Given the description of an element on the screen output the (x, y) to click on. 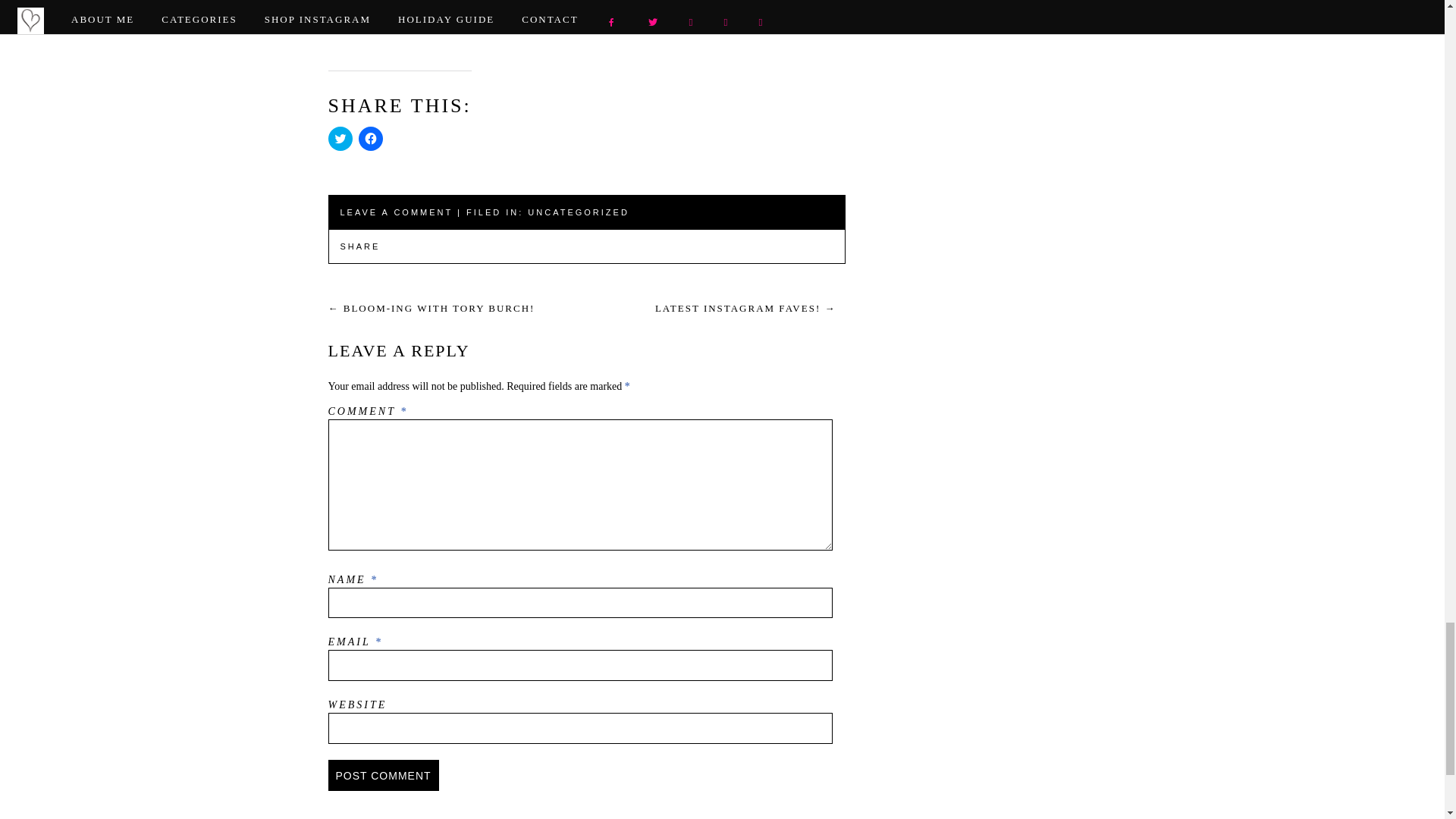
Post Comment (382, 775)
Click to share on Facebook (369, 138)
Click to share on Twitter (339, 138)
